Given the description of an element on the screen output the (x, y) to click on. 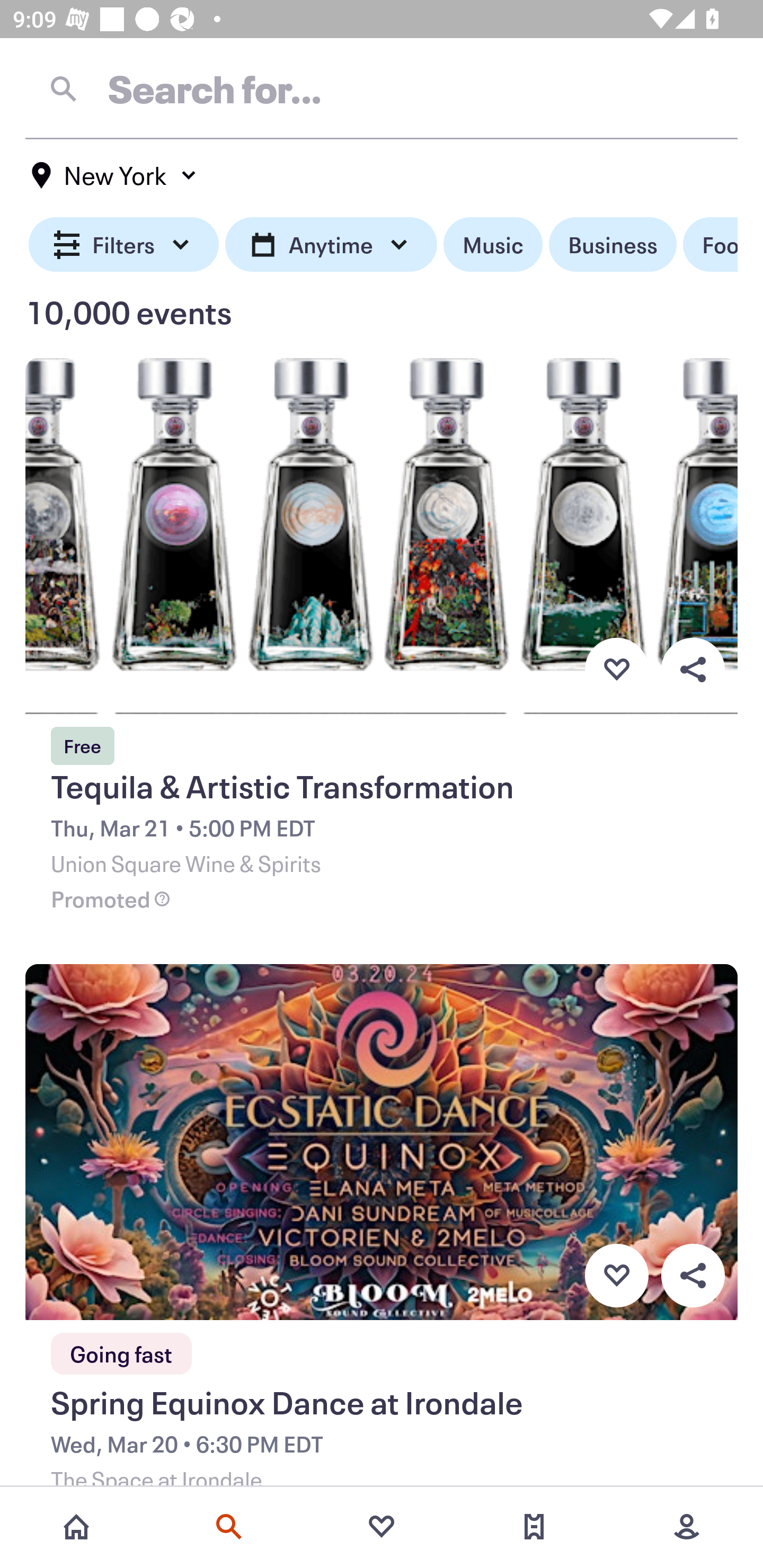
Search for… (381, 88)
New York (114, 175)
Filters (123, 244)
Anytime (331, 244)
Music (492, 244)
Business (612, 244)
Favorite button (616, 669)
Overflow menu button (692, 669)
Favorite button (616, 1275)
Overflow menu button (692, 1275)
Home (76, 1526)
Search events (228, 1526)
Favorites (381, 1526)
Tickets (533, 1526)
More (686, 1526)
